Given the description of an element on the screen output the (x, y) to click on. 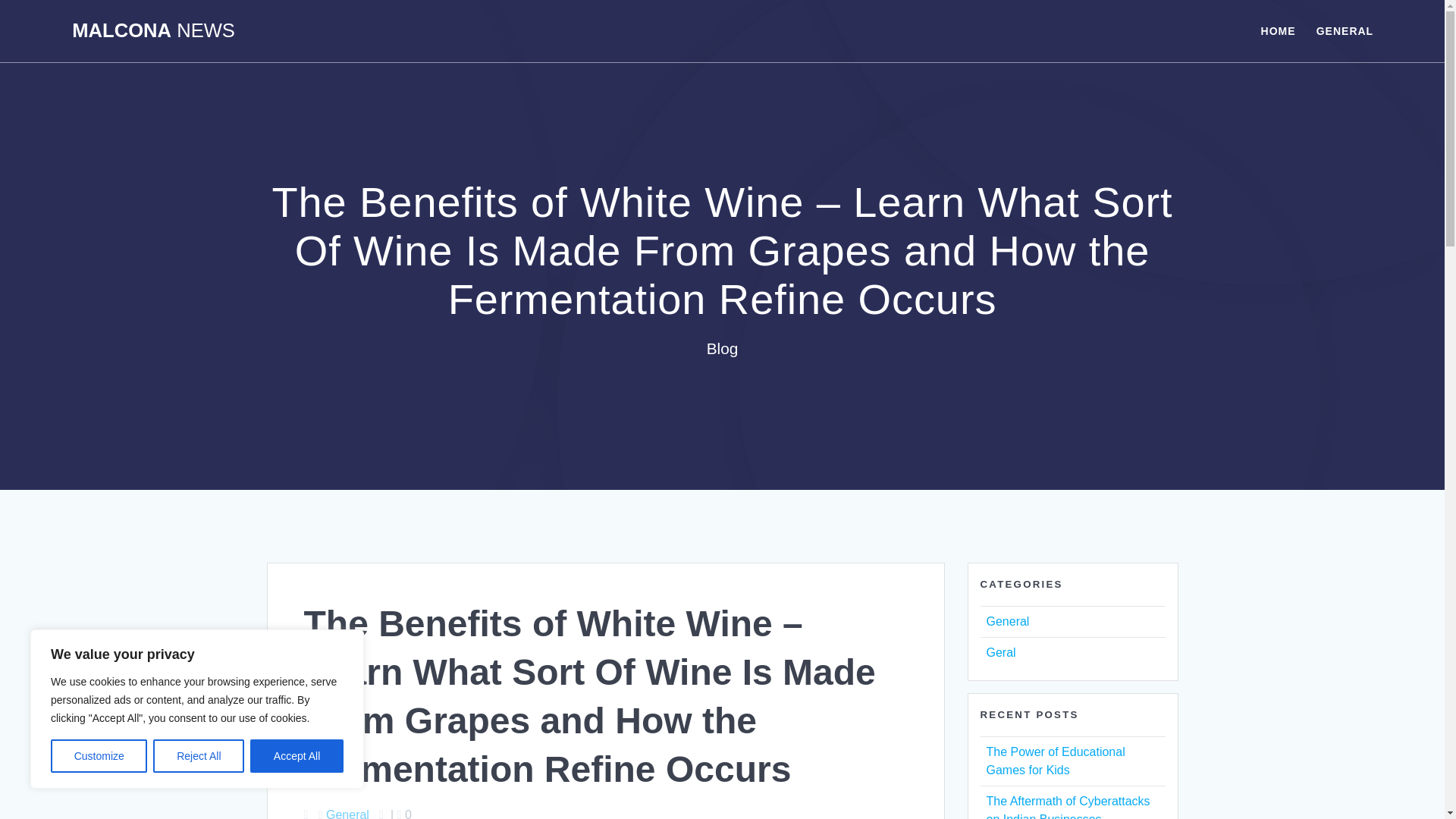
MALCONA NEWS (152, 30)
HOME (1277, 30)
Customize (98, 756)
Accept All (296, 756)
General (347, 813)
Reject All (198, 756)
General (1007, 621)
The Aftermath of Cyberattacks on Indian Businesses (1067, 806)
GENERAL (1344, 30)
The Power of Educational Games for Kids (1054, 760)
